Given the description of an element on the screen output the (x, y) to click on. 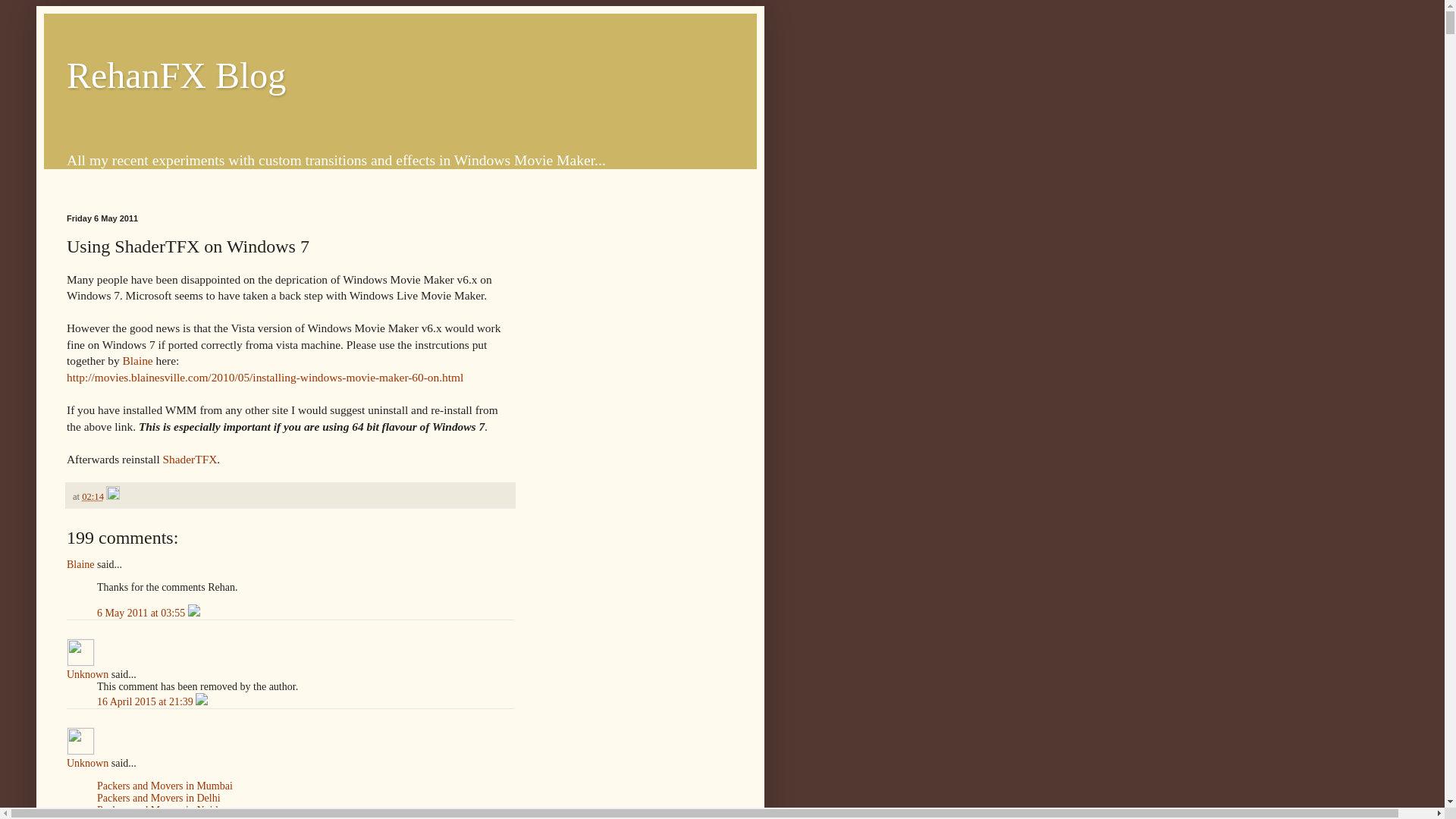
Packers and Movers in Mumbai (164, 785)
Delete Comment (193, 613)
02:14 (92, 496)
permanent link (92, 496)
Unknown (86, 674)
Packers and Movers in Delhi (159, 797)
comment permalink (146, 701)
6 May 2011 at 03:55 (142, 613)
Unknown (86, 763)
Blaine (80, 564)
Blaine (137, 359)
Unknown (80, 652)
Packers and Movers in Noida (159, 809)
comment permalink (142, 613)
Unknown (80, 741)
